Given the description of an element on the screen output the (x, y) to click on. 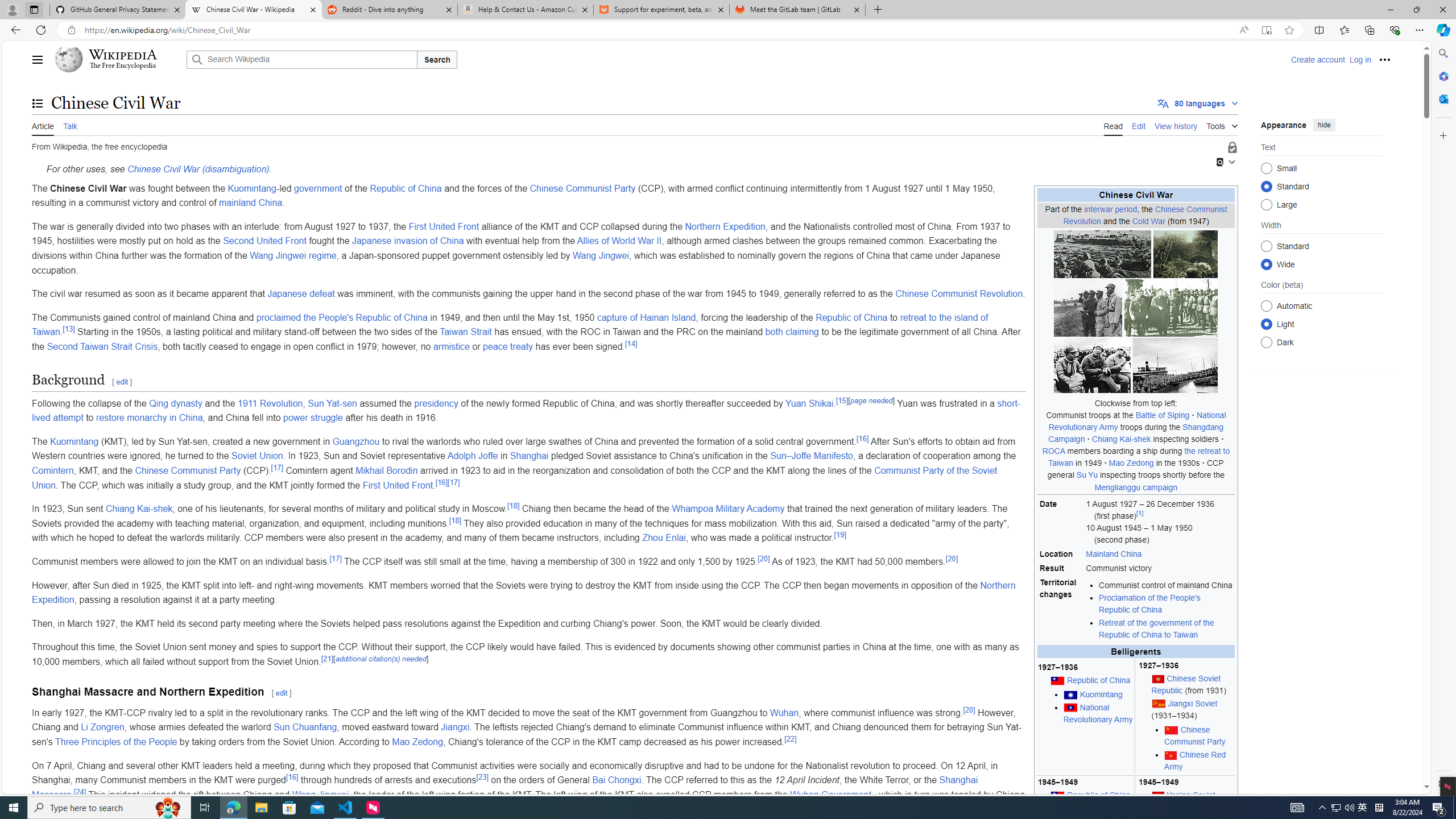
Date (1061, 522)
[1] (1139, 512)
Edit (1138, 124)
Main menu (37, 59)
Japanese defeat (300, 293)
Jiangxi (455, 727)
Comintern (53, 470)
[19] (839, 534)
Meet the GitLab team | GitLab (797, 9)
Chinese Civil War (1135, 195)
Republic of China (851, 317)
